Given the description of an element on the screen output the (x, y) to click on. 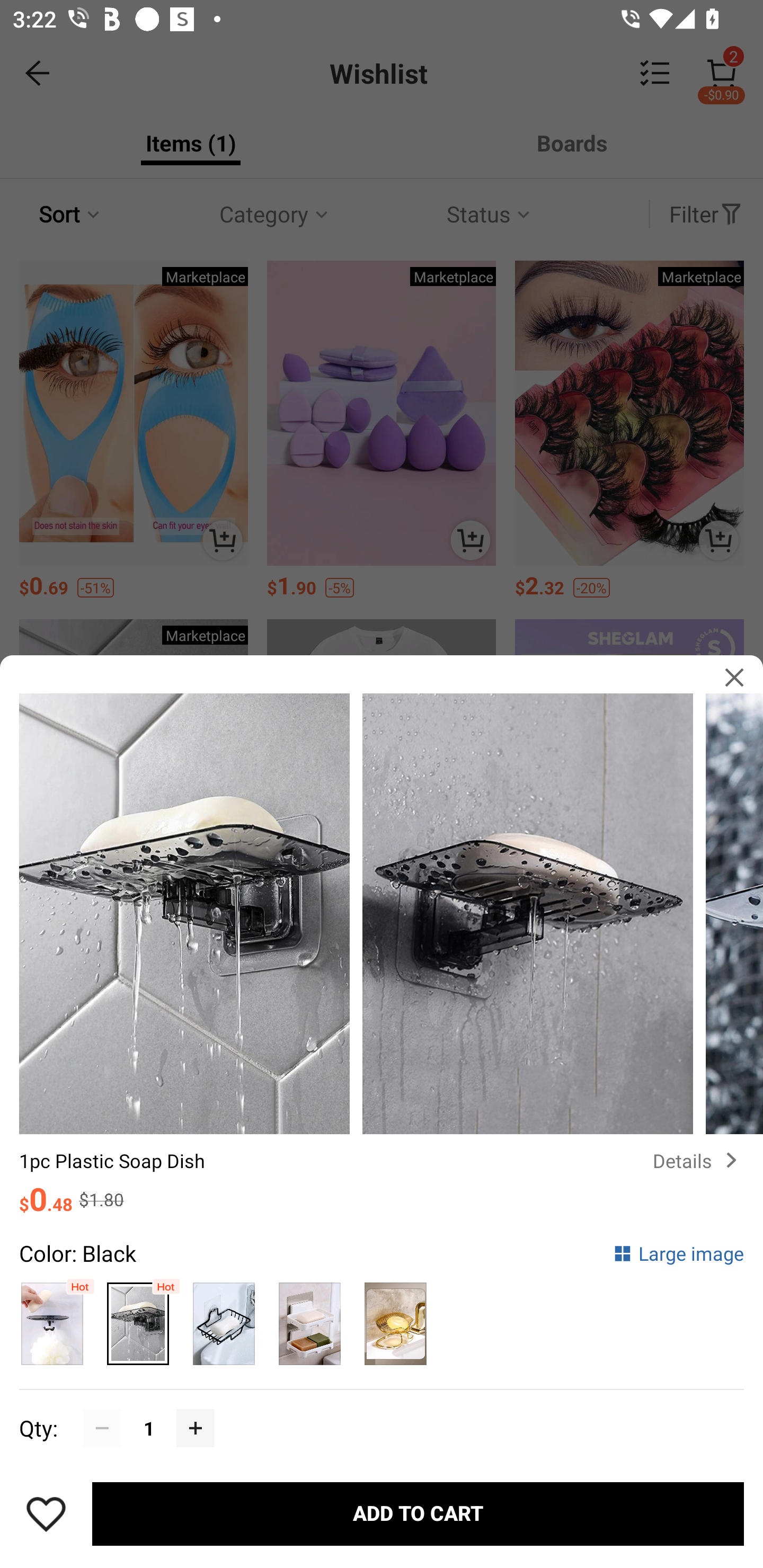
Details (698, 1159)
Color: Black (77, 1253)
Large image (677, 1253)
Black (52, 1319)
Black (138, 1319)
Black (224, 1319)
White (309, 1319)
Gold (395, 1319)
ADD TO CART (417, 1513)
Save (46, 1513)
